Given the description of an element on the screen output the (x, y) to click on. 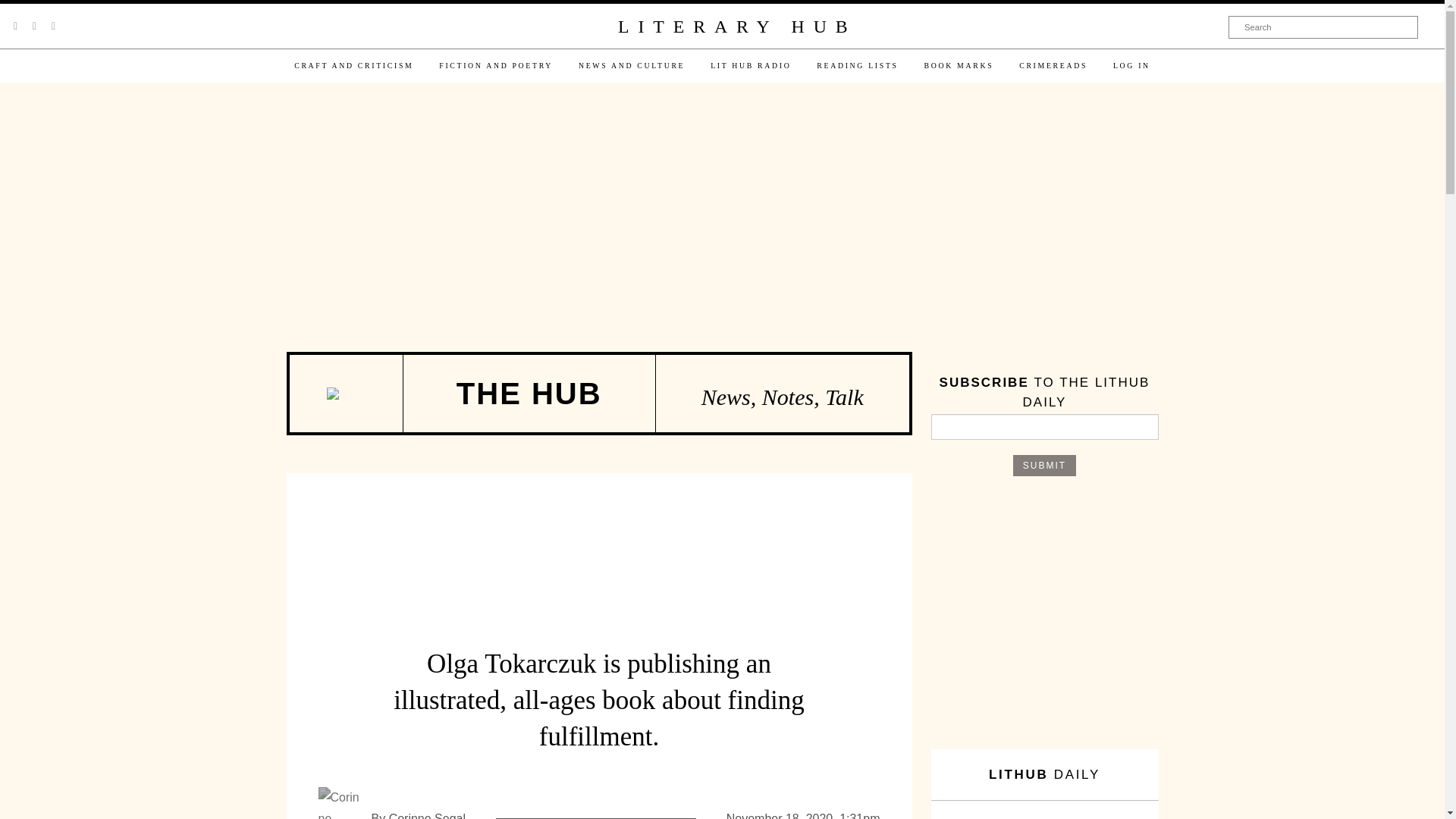
NEWS AND CULTURE (631, 65)
LITERARY HUB (736, 26)
CRAFT AND CRITICISM (353, 65)
FICTION AND POETRY (496, 65)
Search (1323, 26)
